Given the description of an element on the screen output the (x, y) to click on. 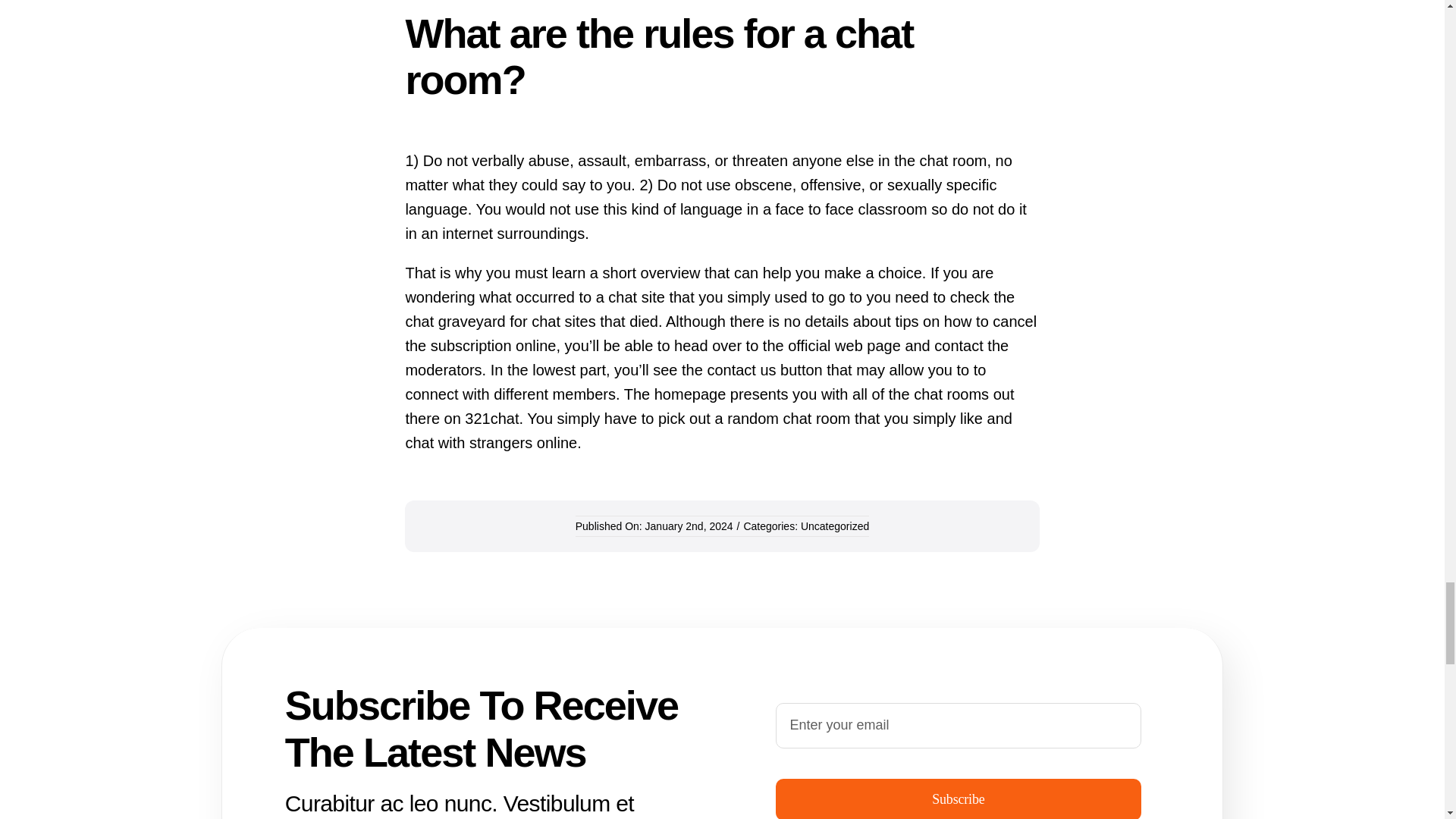
Subscribe (958, 753)
Uncategorized (834, 526)
Subscribe (957, 798)
